Given the description of an element on the screen output the (x, y) to click on. 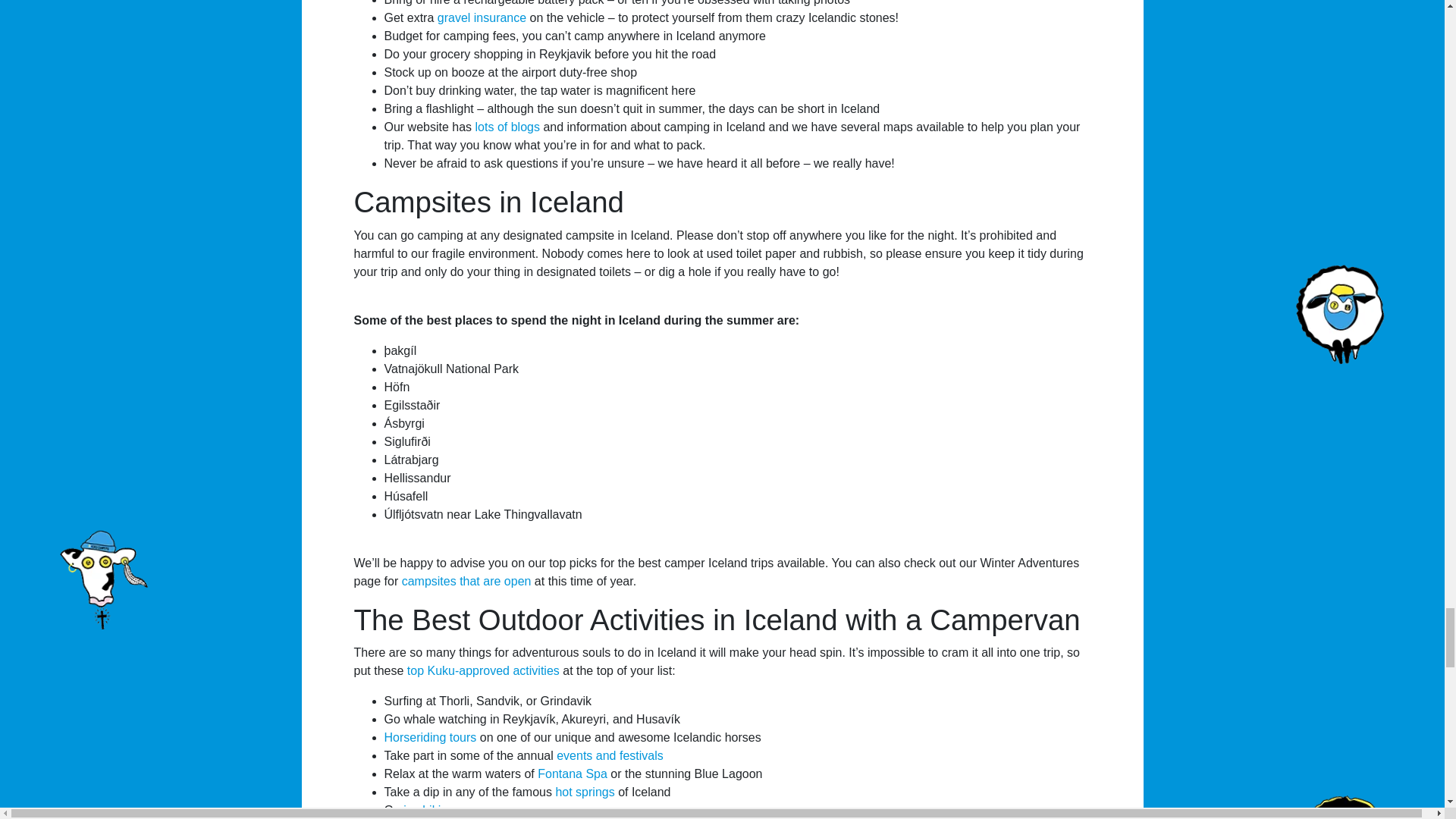
20 Must do extreme Iceland activities (483, 670)
campsites that are open in Iceland (466, 581)
Iceland beer festivals (609, 755)
gravel insurance for camper vans (481, 17)
